Given the description of an element on the screen output the (x, y) to click on. 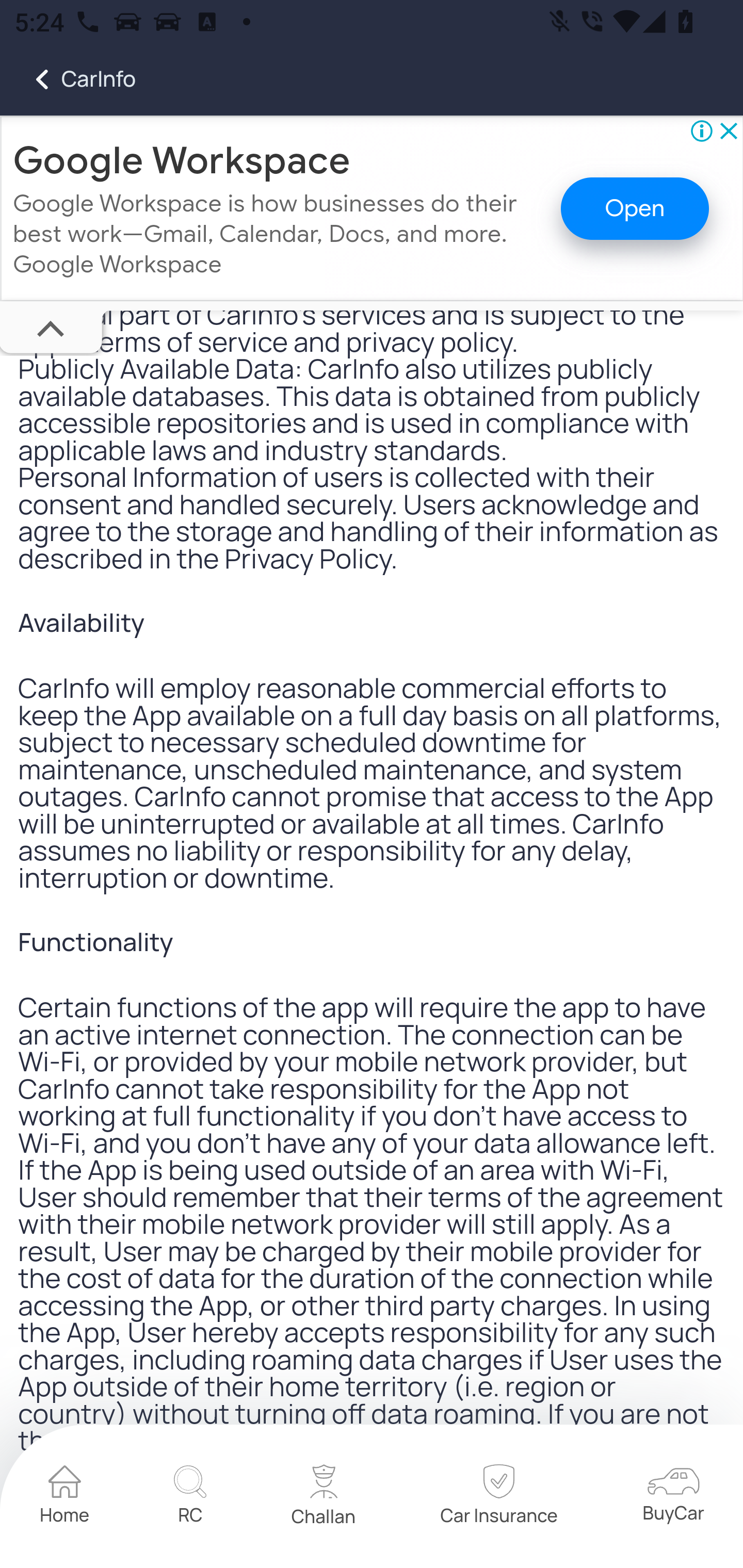
CarInfo (67, 79)
Google Workspace (182, 161)
Open (634, 209)
home Challan home Challan (323, 1497)
home Home home Home (64, 1498)
home RC home RC (190, 1498)
home Car Insurance home Car Insurance (497, 1498)
home BuyCar home BuyCar (672, 1497)
